Given the description of an element on the screen output the (x, y) to click on. 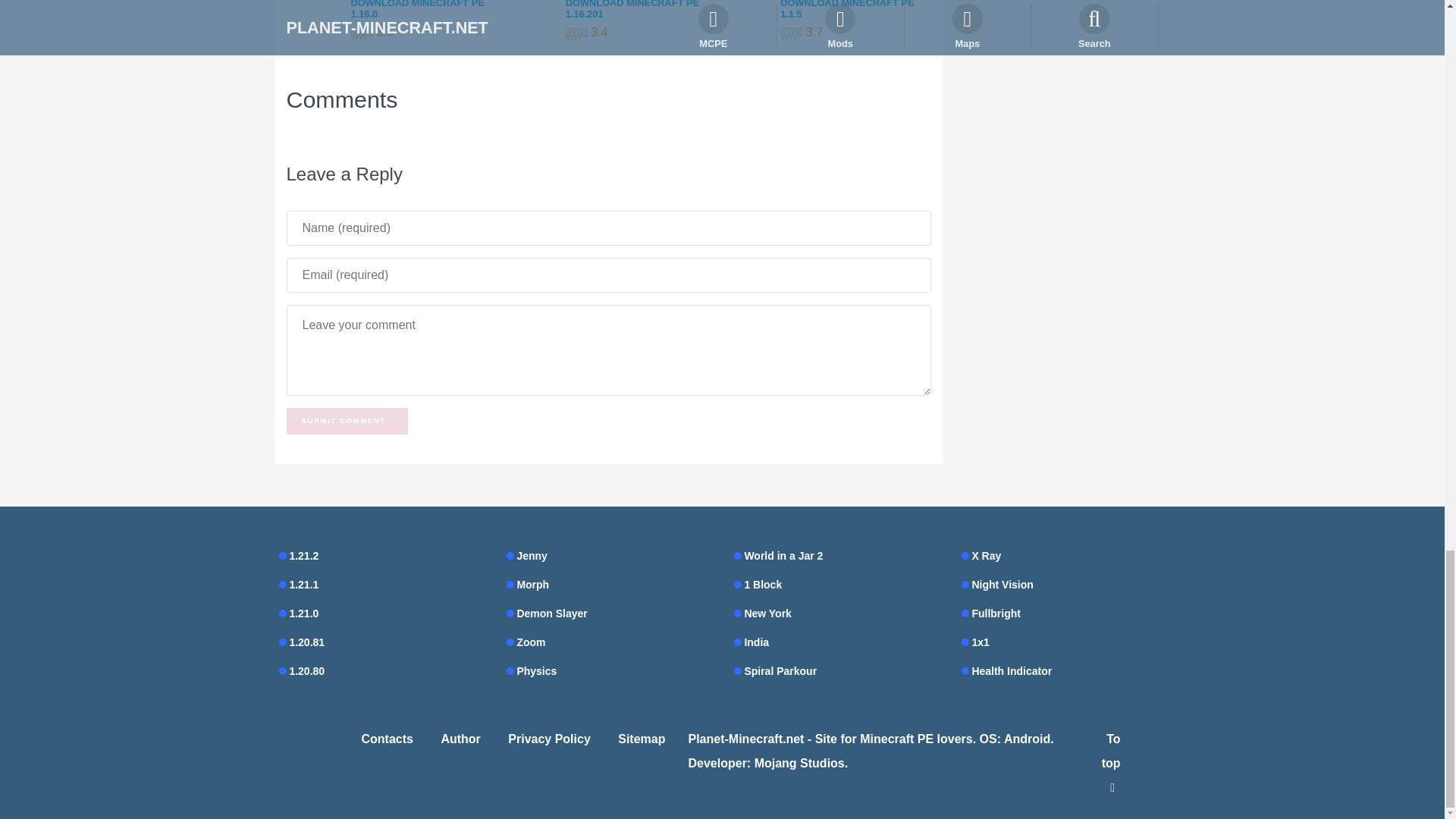
1.20.80 (381, 670)
1.21.0 (381, 613)
Submit Comment (346, 420)
1.20.81 (381, 641)
1.21.2 (381, 555)
1.21.1 (381, 584)
